Given the description of an element on the screen output the (x, y) to click on. 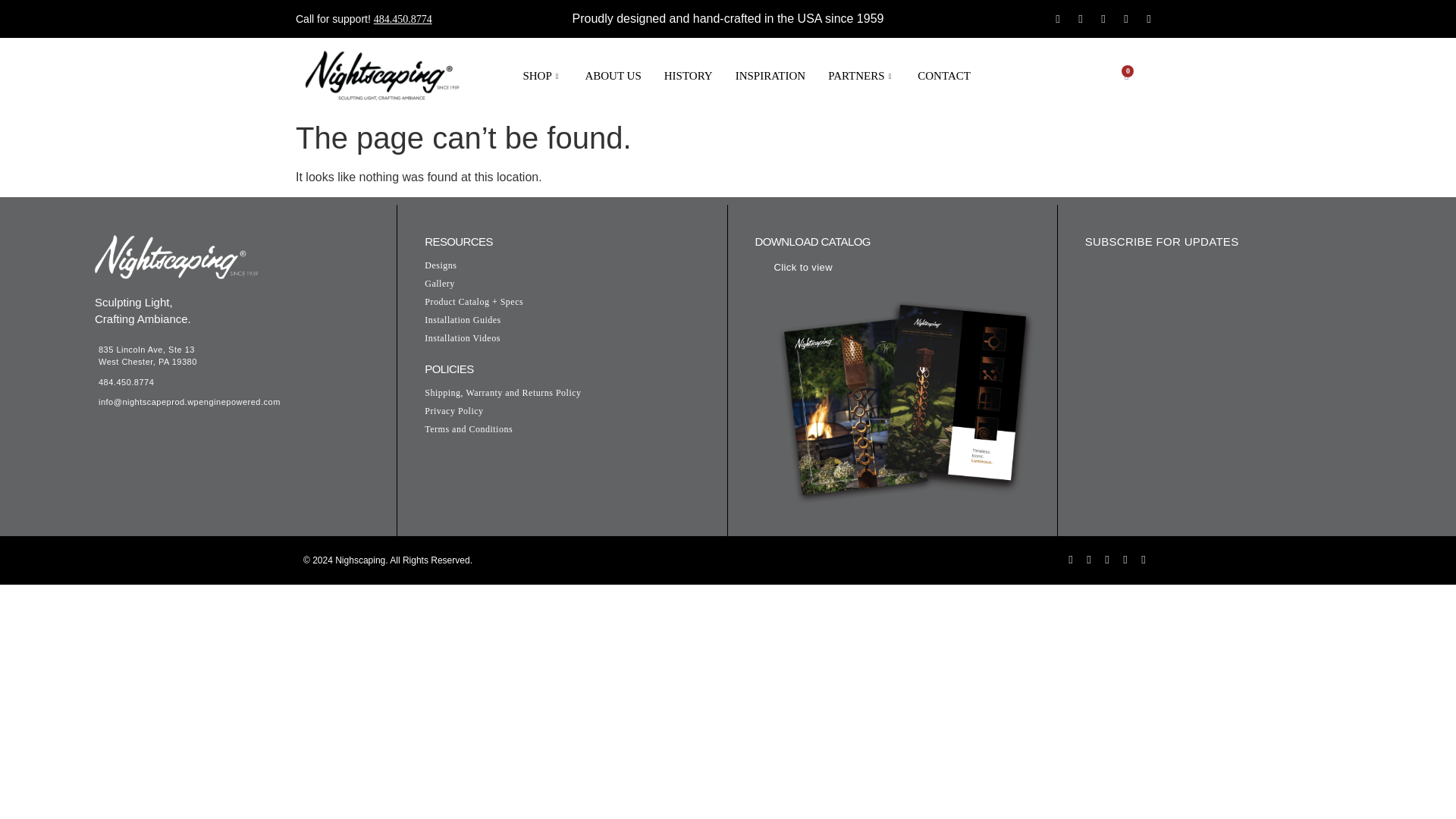
0 (1126, 75)
Form 0 (1235, 384)
INSPIRATION (769, 75)
SHOP (542, 75)
CONTACT (943, 75)
HISTORY (687, 75)
PARTNERS (860, 75)
ABOUT US (612, 75)
484.450.8774 (403, 19)
